Given the description of an element on the screen output the (x, y) to click on. 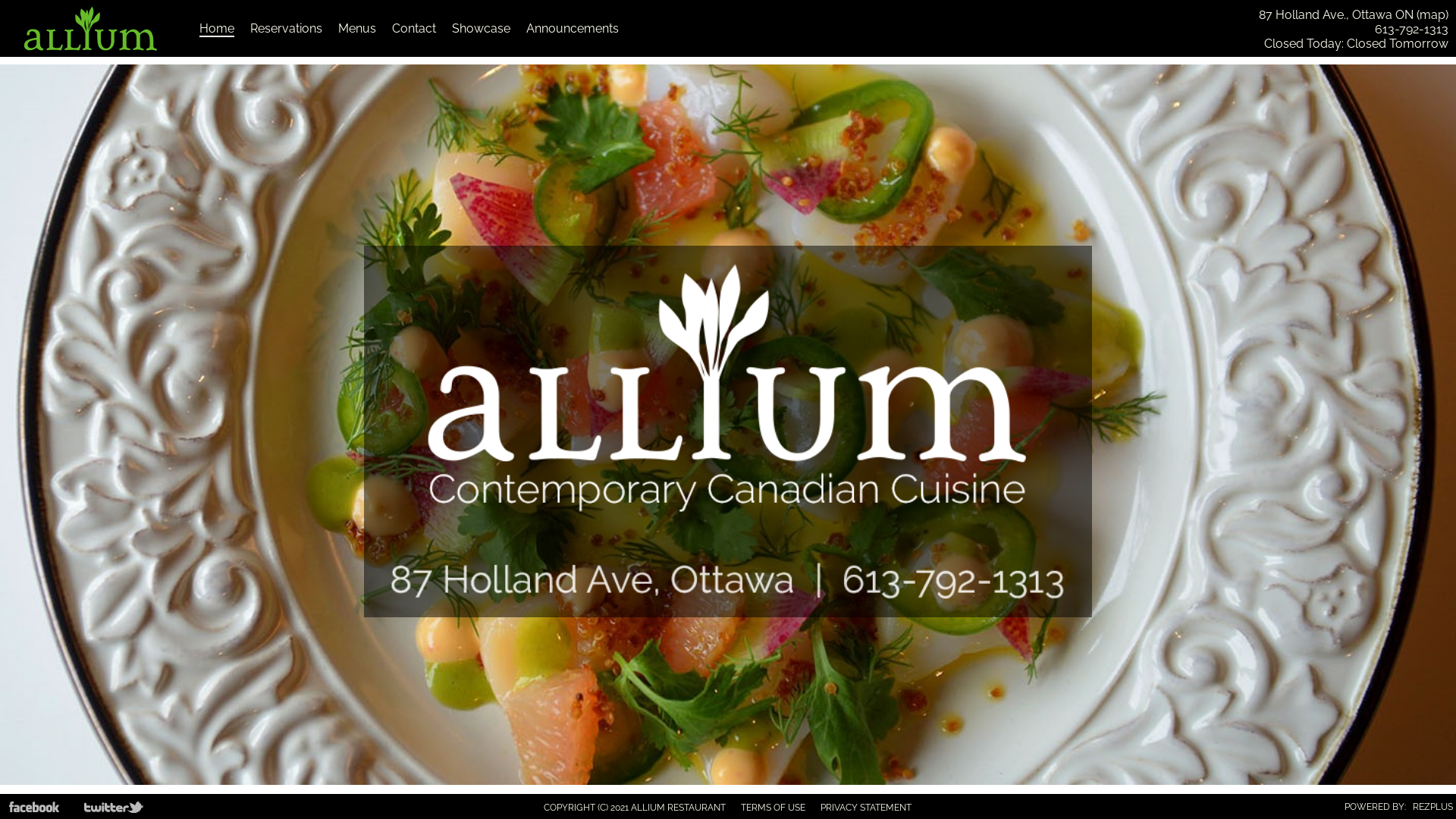
TERMS OF USE Element type: text (772, 807)
REZPLUS Element type: text (1432, 806)
Contact Element type: text (413, 28)
Home Element type: text (216, 28)
Announcements Element type: text (572, 28)
PRIVACY STATEMENT Element type: text (866, 807)
Menus Element type: text (356, 28)
Closed Today: Closed Tomorrow Element type: text (1356, 43)
POWERED BY: Element type: text (1376, 806)
Allium Restaurant Element type: hover (90, 52)
Showcase Element type: text (480, 28)
(map) Element type: text (1432, 14)
Reservations Element type: text (285, 28)
